Given the description of an element on the screen output the (x, y) to click on. 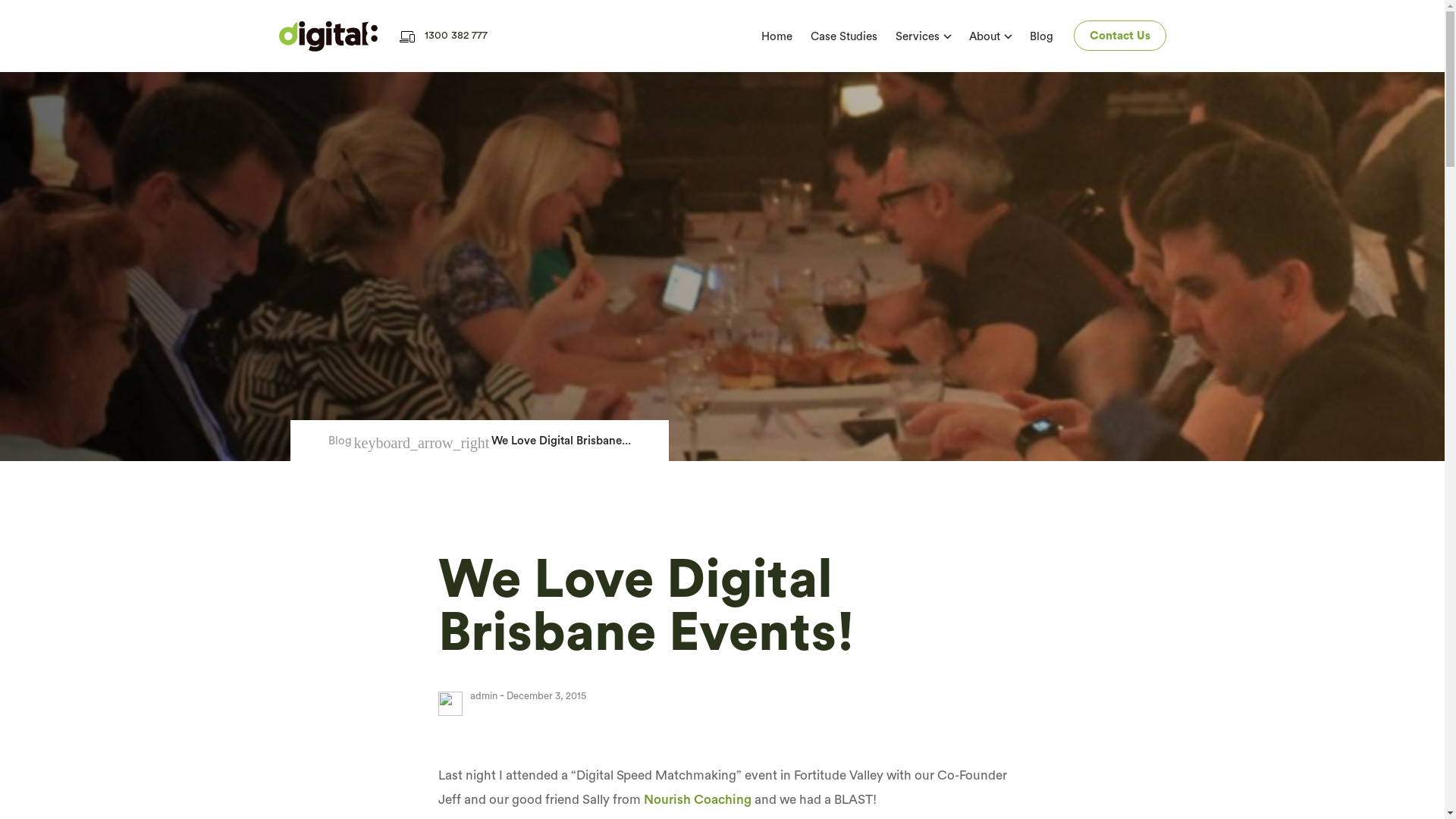
Home
Case Studies
Services
About
Blog
Contact Us Element type: text (833, 36)
Blog Element type: text (339, 440)
Home Element type: text (776, 36)
Blog Element type: text (1041, 36)
Contact Us Element type: text (1119, 35)
Services Element type: text (916, 36)
1300 382 777 Element type: text (443, 35)
Nourish Coaching Element type: text (696, 799)
admin Element type: text (483, 695)
Case Studies Element type: text (842, 36)
- December 3, 2015 Element type: text (541, 695)
About Element type: text (984, 36)
